Given the description of an element on the screen output the (x, y) to click on. 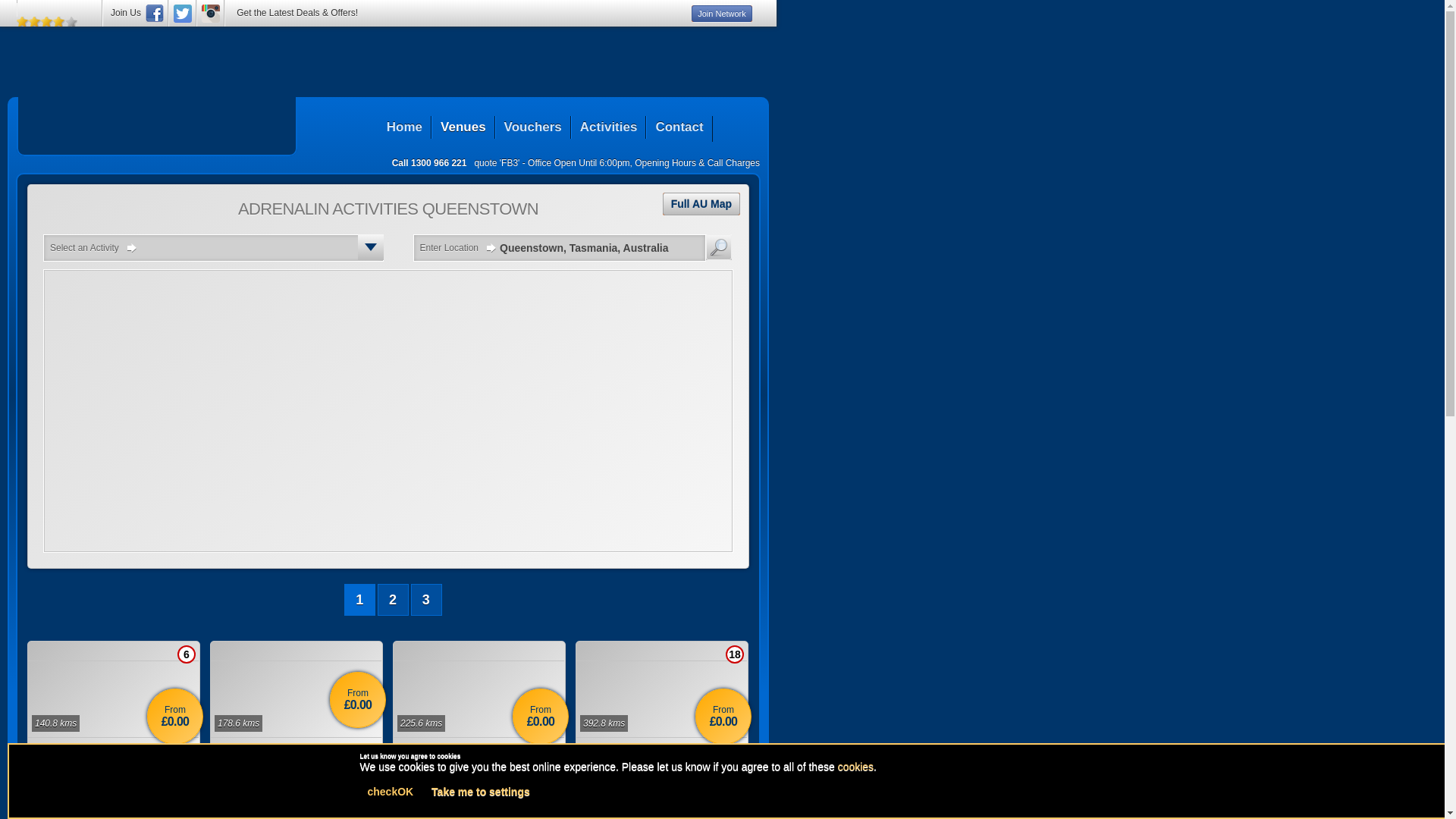
expand Element type: text (370, 247)
Venues Element type: text (462, 127)
Join Network Element type: text (721, 13)
Vouchers Element type: text (532, 127)
Facebook Element type: text (154, 13)
Wonthaggi, VIC
Paintball Element type: text (661, 758)
3 Element type: text (425, 599)
Adrenalin Activities near Queenstown Element type: text (156, 121)
cookies Element type: text (855, 766)
Full AU Map Element type: text (701, 203)
Instagram Element type: text (210, 13)
Home Element type: text (404, 127)
2 Element type: text (392, 599)
Take me to settings Element type: text (480, 791)
Opening Hours & Call Charges Element type: text (696, 162)
Contact Element type: text (678, 127)
Ballon Flights, Tasmania & Geelong
Hot Air Ballooning Element type: text (113, 758)
Coles Bay
Quad Biking Element type: text (479, 758)
Activities Element type: text (608, 127)
checkOK Element type: text (390, 791)
Cambridge Element type: text (296, 749)
1 Element type: text (359, 599)
Twitter Element type: text (182, 13)
